Given the description of an element on the screen output the (x, y) to click on. 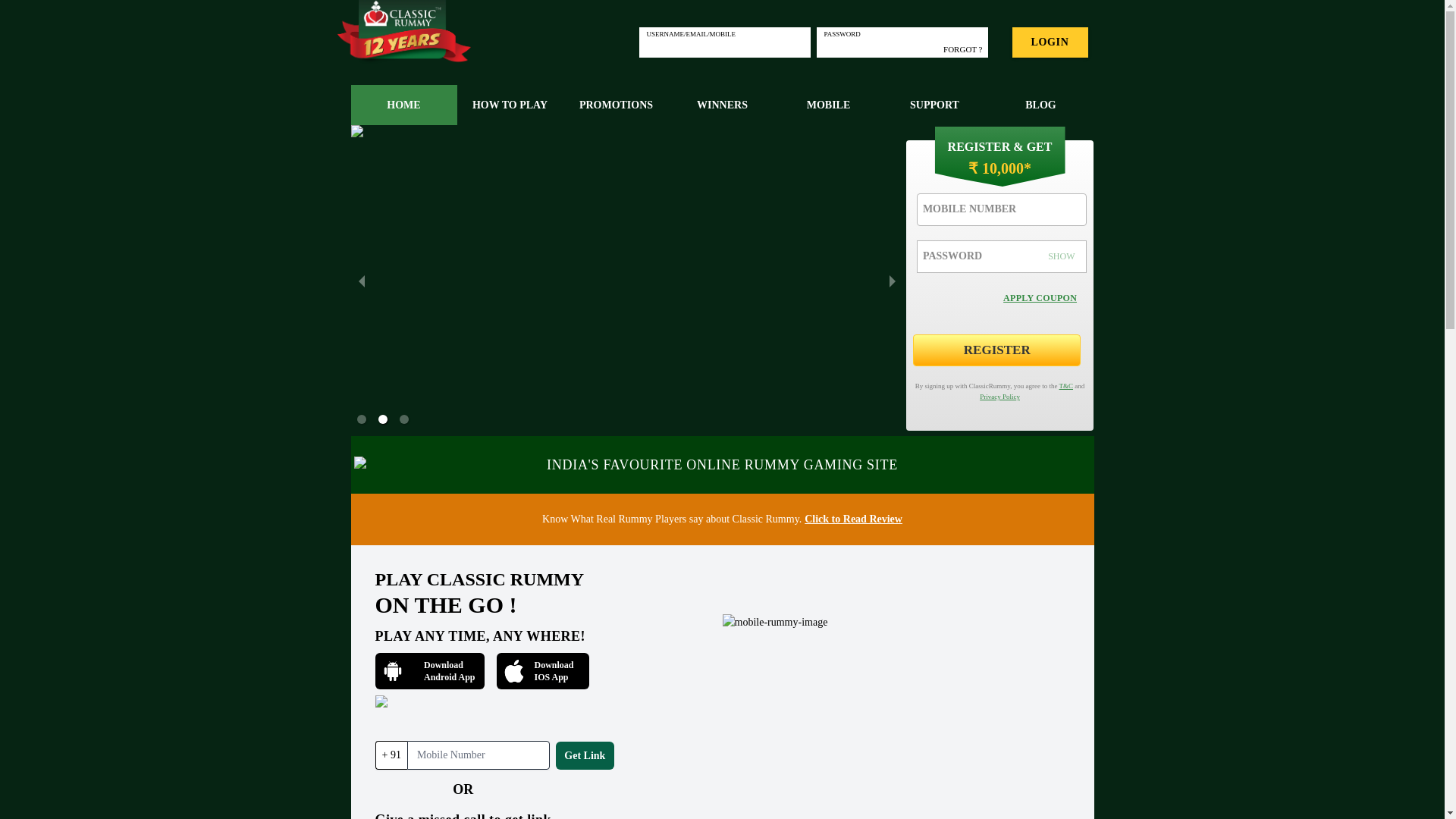
FORGOT ? (547, 670)
Register (962, 49)
Click to Read Review (996, 350)
HOW TO PLAY (852, 518)
SUPPORT (509, 105)
Get Link (933, 105)
PROMOTIONS (585, 755)
MOBILE (542, 670)
Classic Rummy Online (435, 670)
Privacy Policy (615, 105)
WINNERS (827, 105)
Register (403, 33)
